Given the description of an element on the screen output the (x, y) to click on. 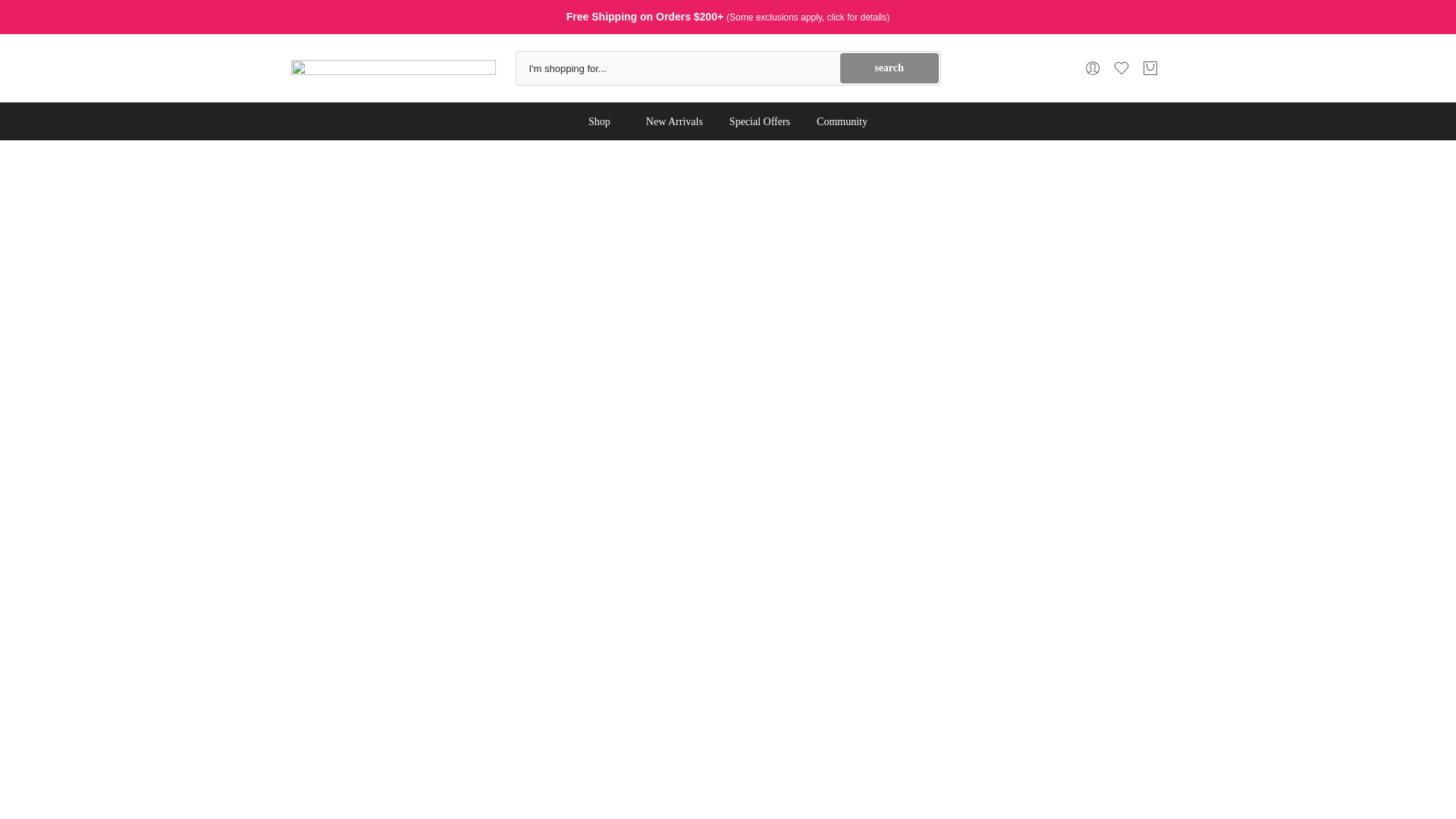
Community (841, 122)
Shop (604, 122)
Skip to content (10, 7)
Special Offers (759, 122)
New Arrivals (673, 122)
search (889, 68)
